Given the description of an element on the screen output the (x, y) to click on. 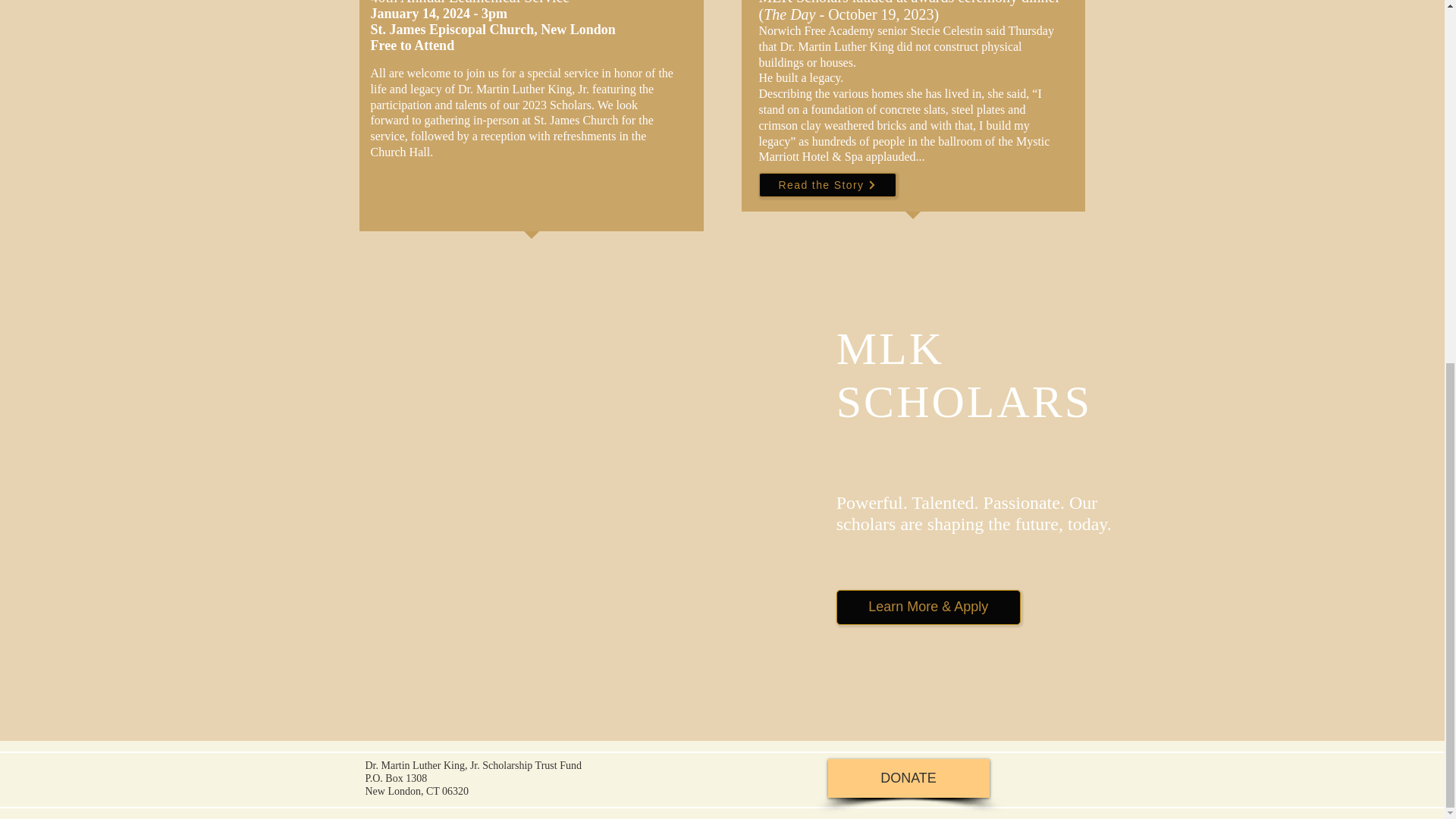
DONATE (909, 778)
Read the Story (826, 184)
